Given the description of an element on the screen output the (x, y) to click on. 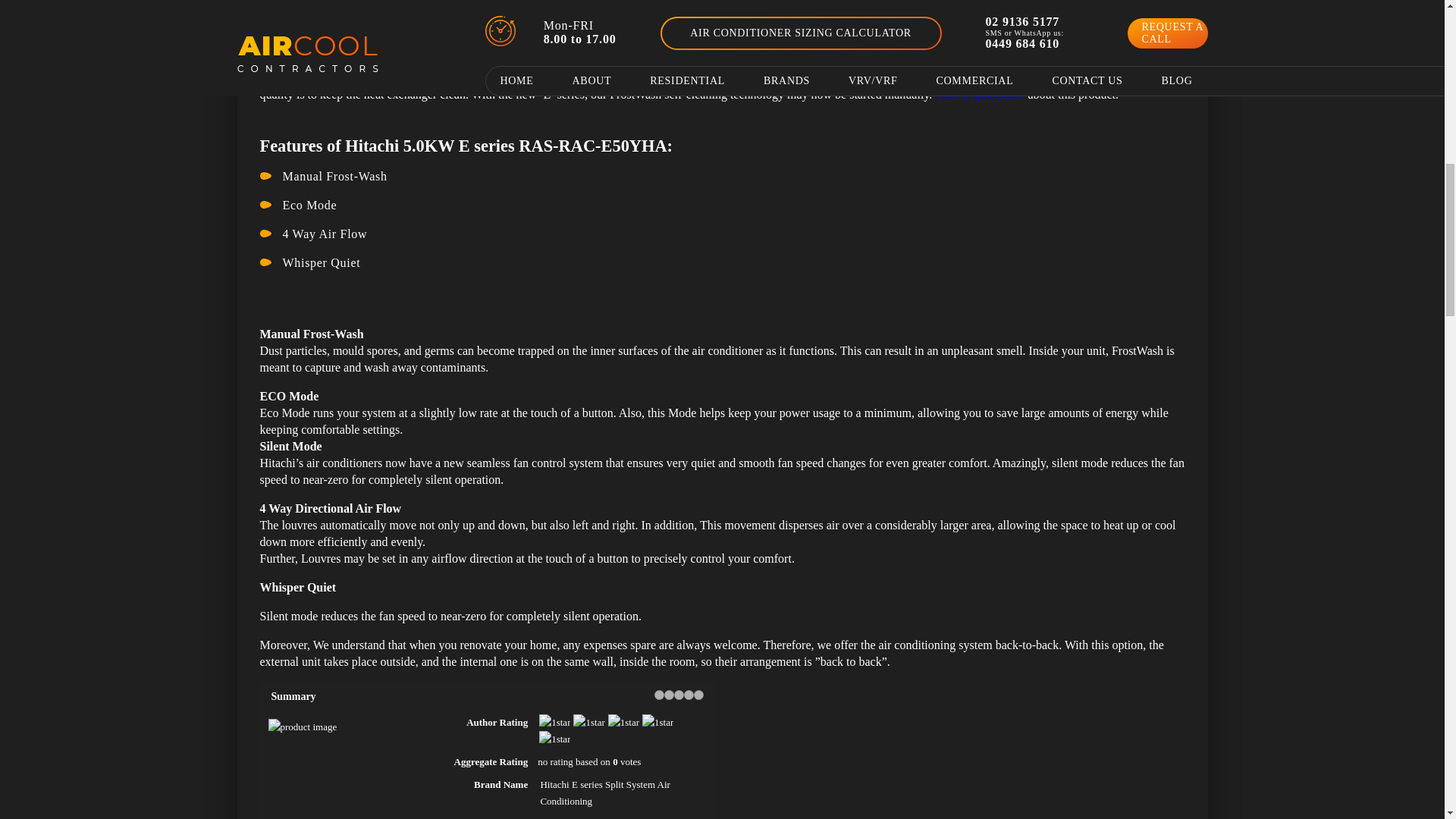
4 (689, 695)
2 (668, 695)
1 (658, 695)
3 (677, 695)
5 (698, 695)
